Given the description of an element on the screen output the (x, y) to click on. 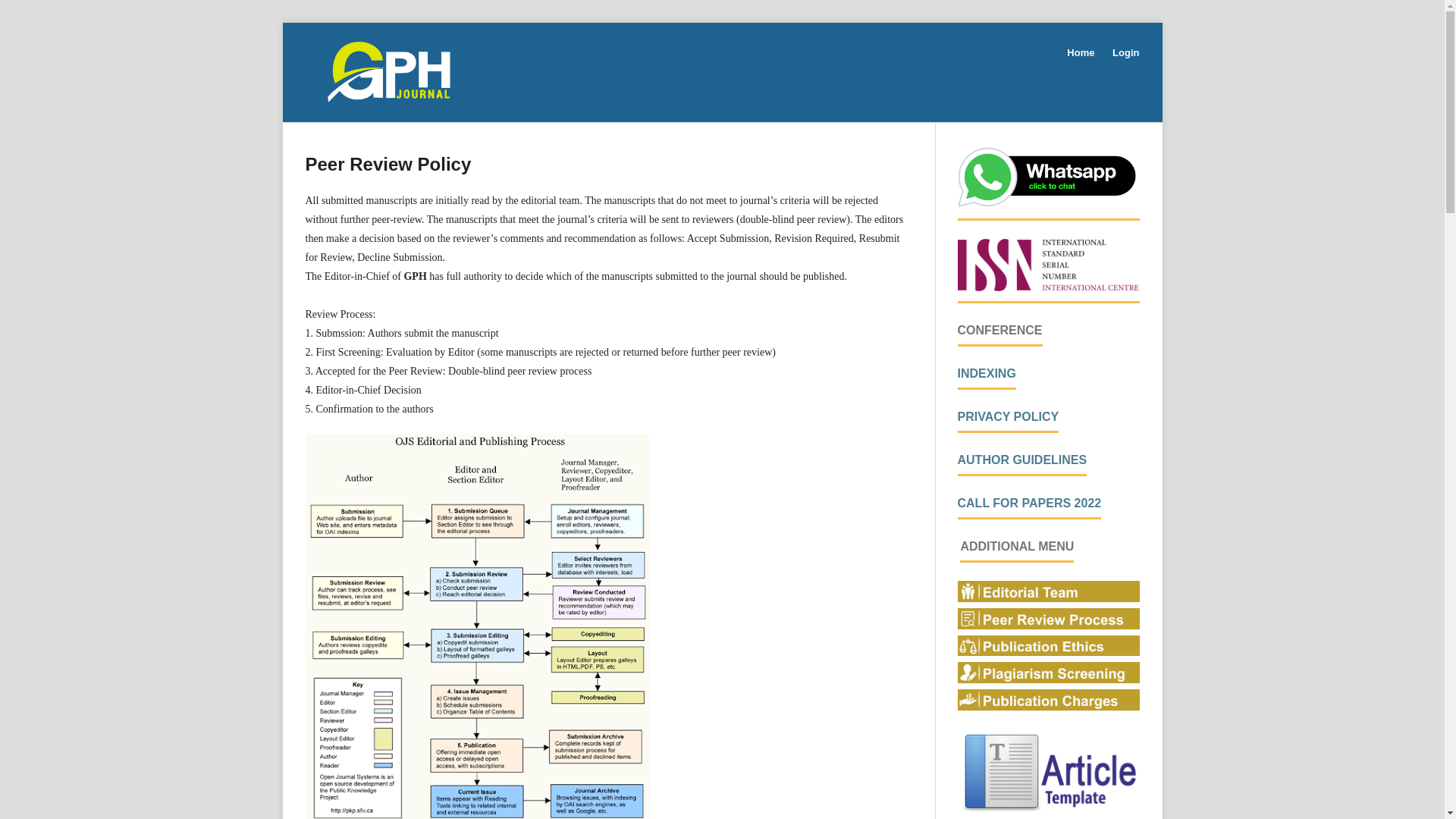
APC (1047, 706)
PRIVACY POLICY (1007, 416)
Author Guidelines (1021, 459)
Peer Review Policy (1047, 625)
GPH-ISSN (1047, 287)
Indexing and Abstracting (985, 373)
Home (1080, 52)
Login (1121, 52)
Conference (999, 330)
CALL FOR PAPERS 2022 (1028, 502)
